Given the description of an element on the screen output the (x, y) to click on. 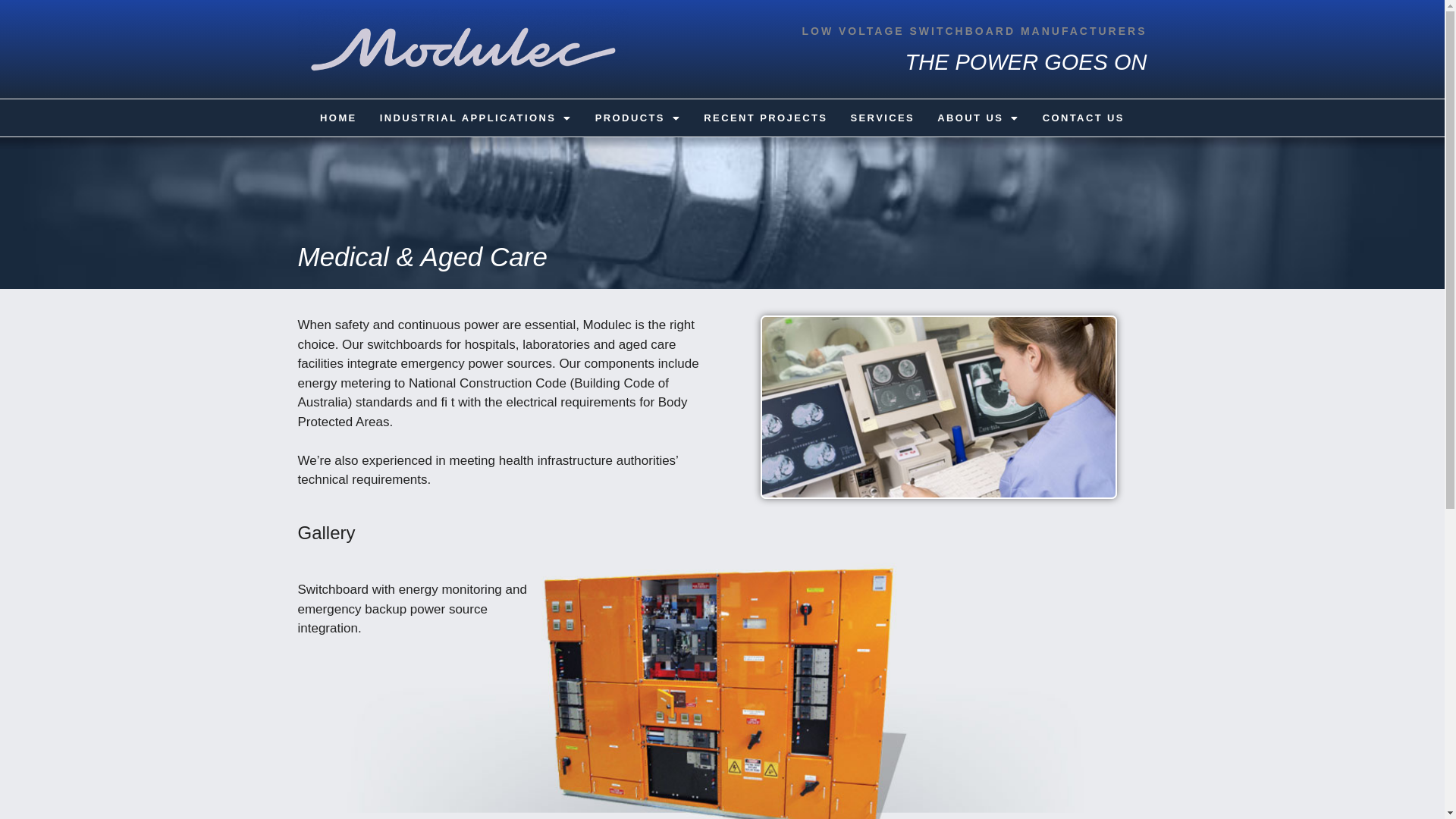
SERVICES Element type: text (881, 117)
PRODUCTS Element type: text (638, 117)
HOME Element type: text (338, 117)
ABOUT US Element type: text (978, 117)
RECENT PROJECTS Element type: text (765, 117)
CONTACT US Element type: text (1083, 117)
INDUSTRIAL APPLICATIONS Element type: text (475, 117)
